Given the description of an element on the screen output the (x, y) to click on. 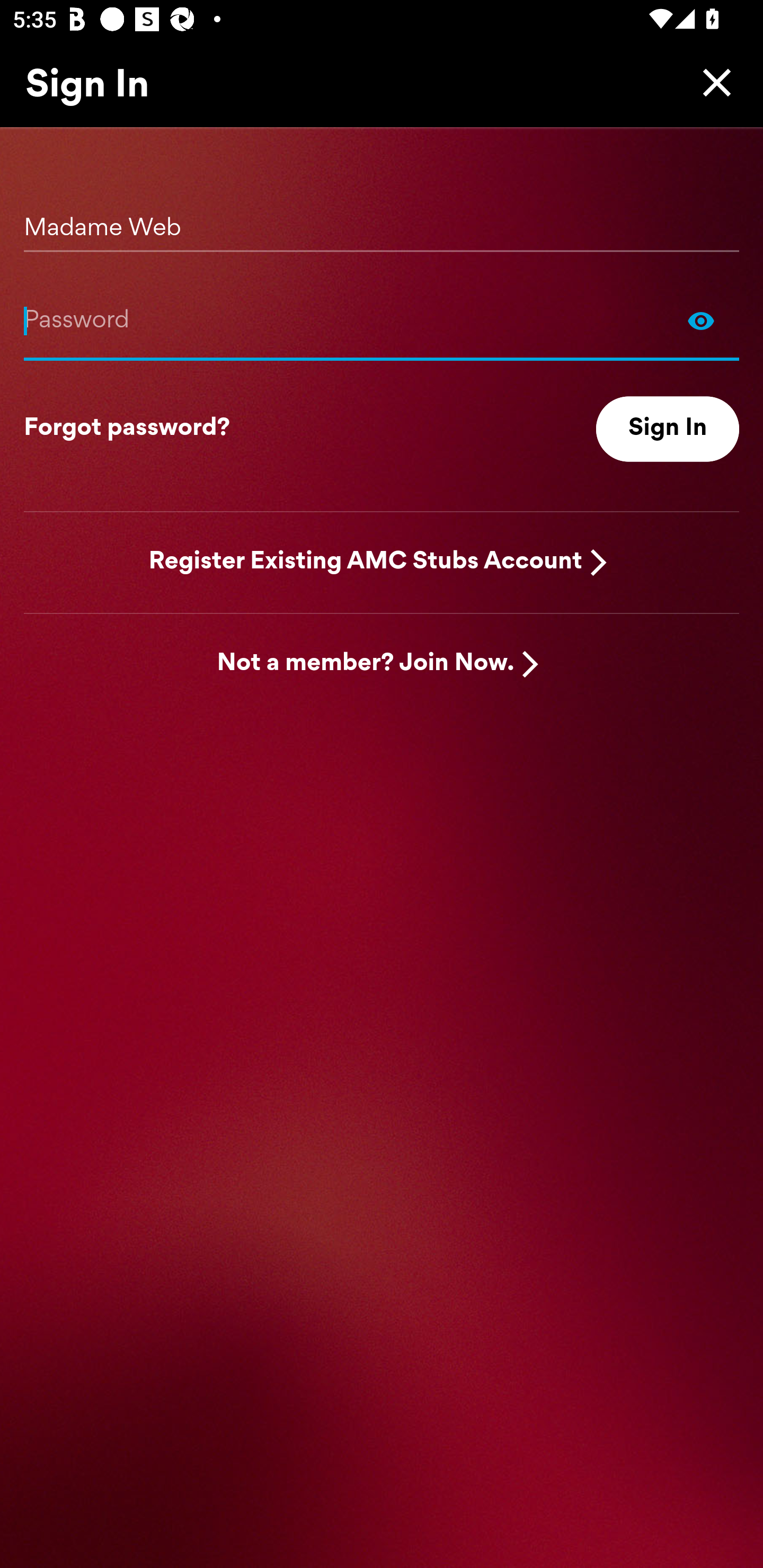
Close (712, 82)
Madame Web (381, 220)
Show Password (381, 320)
Show Password (701, 320)
Forgot password? (126, 428)
Sign In (667, 428)
Register Existing AMC Stubs Account (365, 561)
Not a member? Join Now. (365, 663)
